Given the description of an element on the screen output the (x, y) to click on. 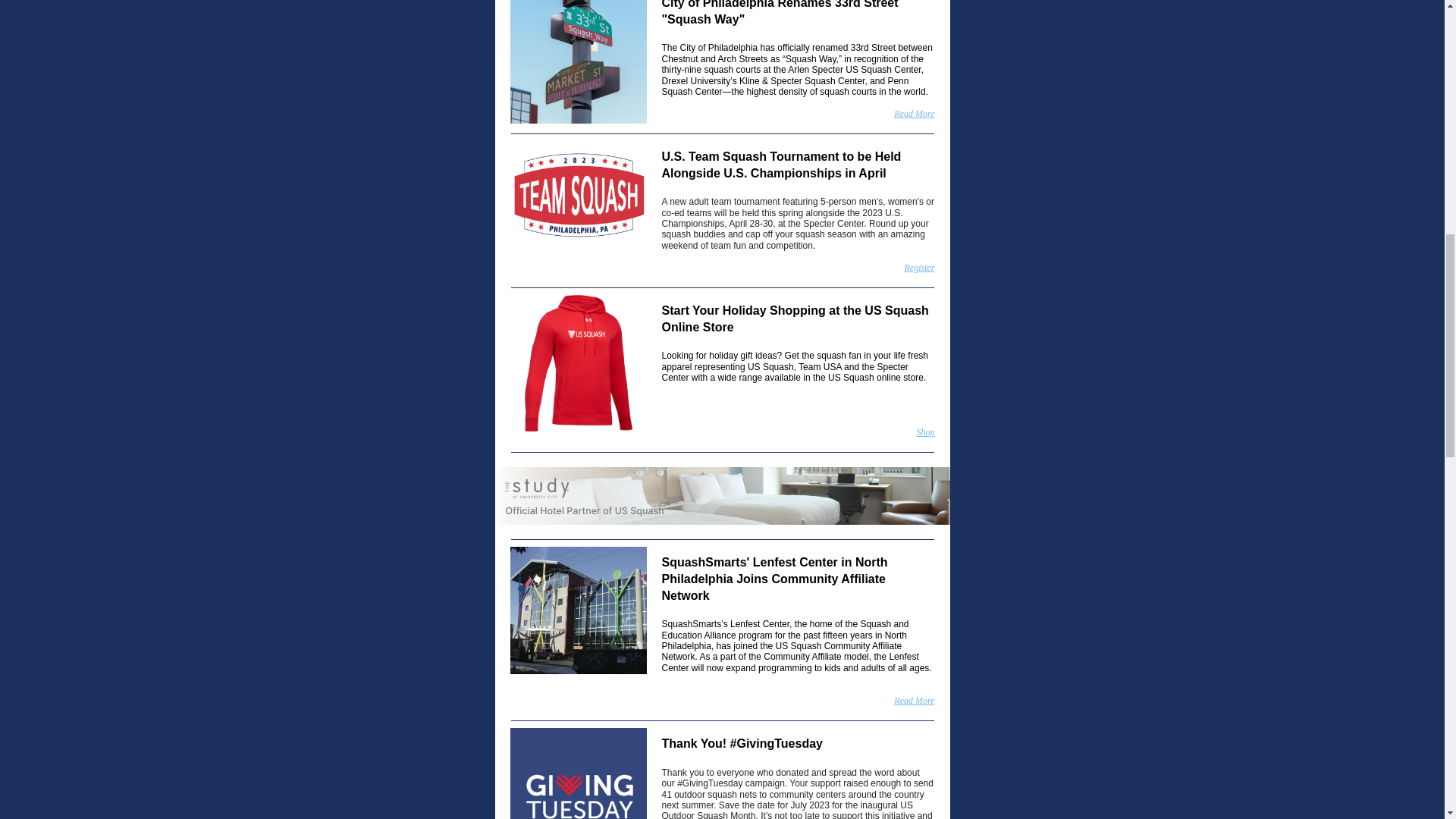
City of Philadelphia Renames 33rd Street "Squash Way" (779, 12)
Shop (924, 431)
Start Your Holiday Shopping at the US Squash Online Store (794, 318)
Read More (913, 700)
Register (919, 267)
Read More (913, 113)
